Given the description of an element on the screen output the (x, y) to click on. 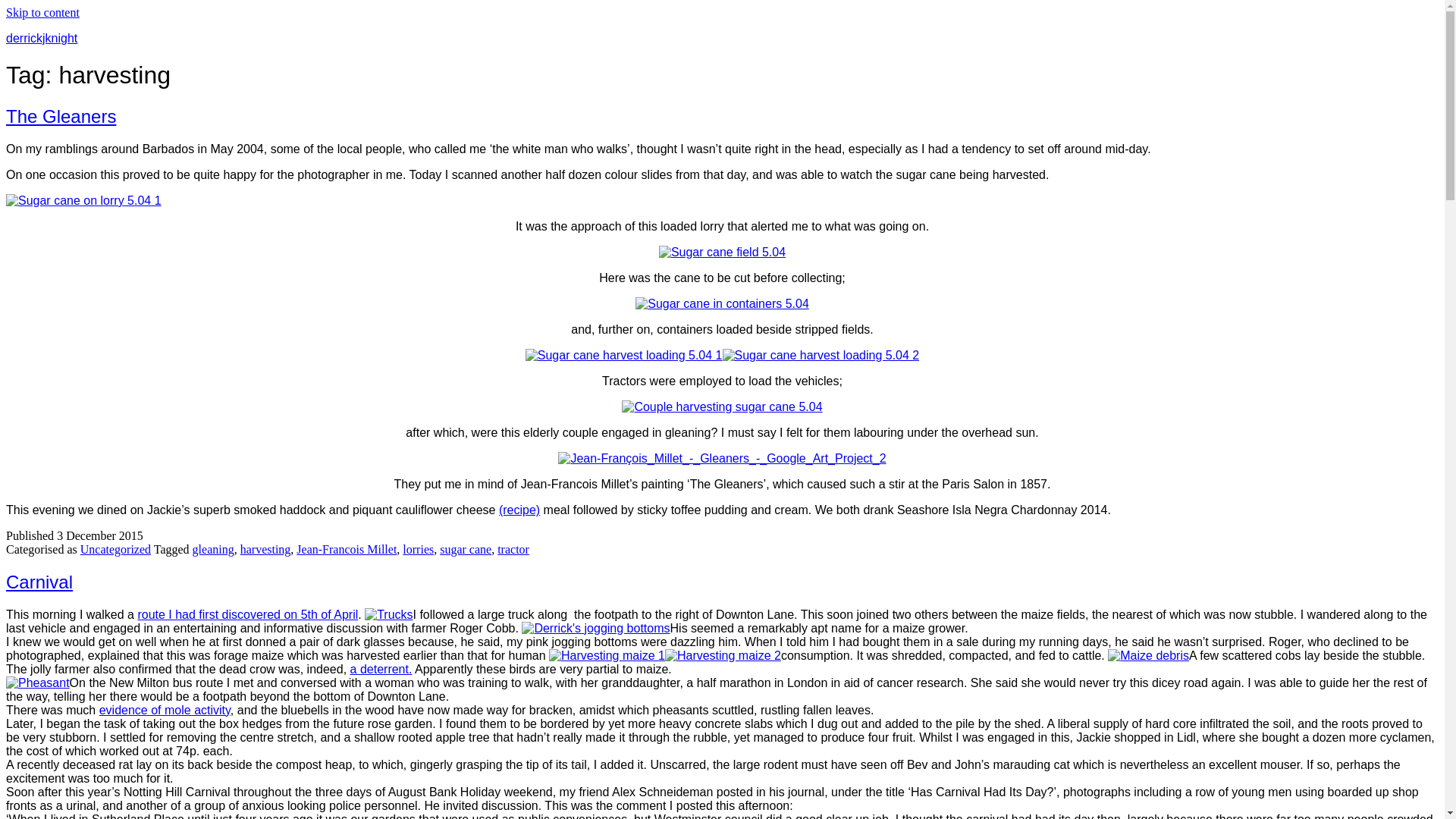
lorries (418, 549)
derrickjknight (41, 38)
gleaning (213, 549)
Carnival (38, 581)
Uncategorized (115, 549)
Skip to content (42, 11)
route I had first discovered on 5th of April (247, 614)
tractor (513, 549)
harvesting (265, 549)
evidence of mole activity (164, 709)
sugar cane (465, 549)
The Gleaners (60, 116)
Jean-Francois Millet (346, 549)
a deterrent. (381, 668)
